Given the description of an element on the screen output the (x, y) to click on. 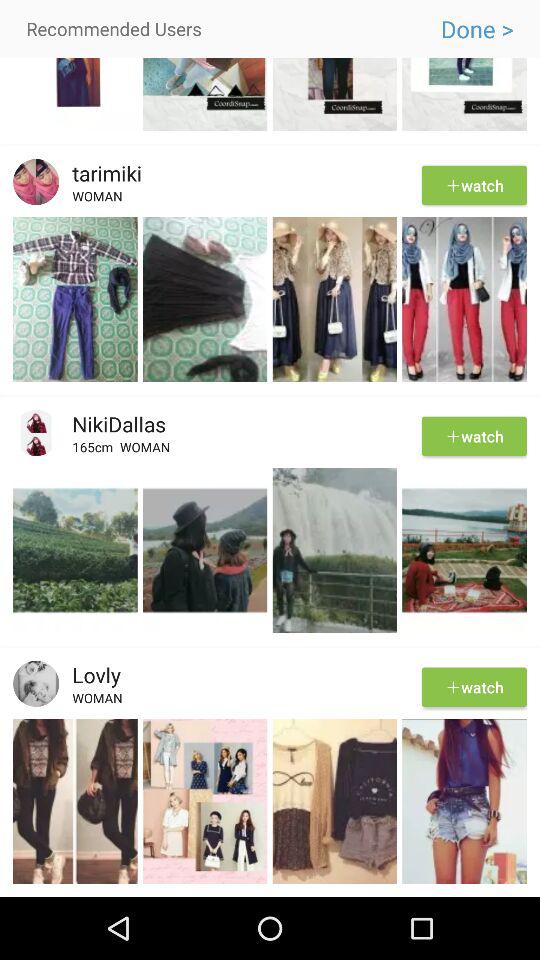
flip to the tarimiki icon (100, 173)
